Given the description of an element on the screen output the (x, y) to click on. 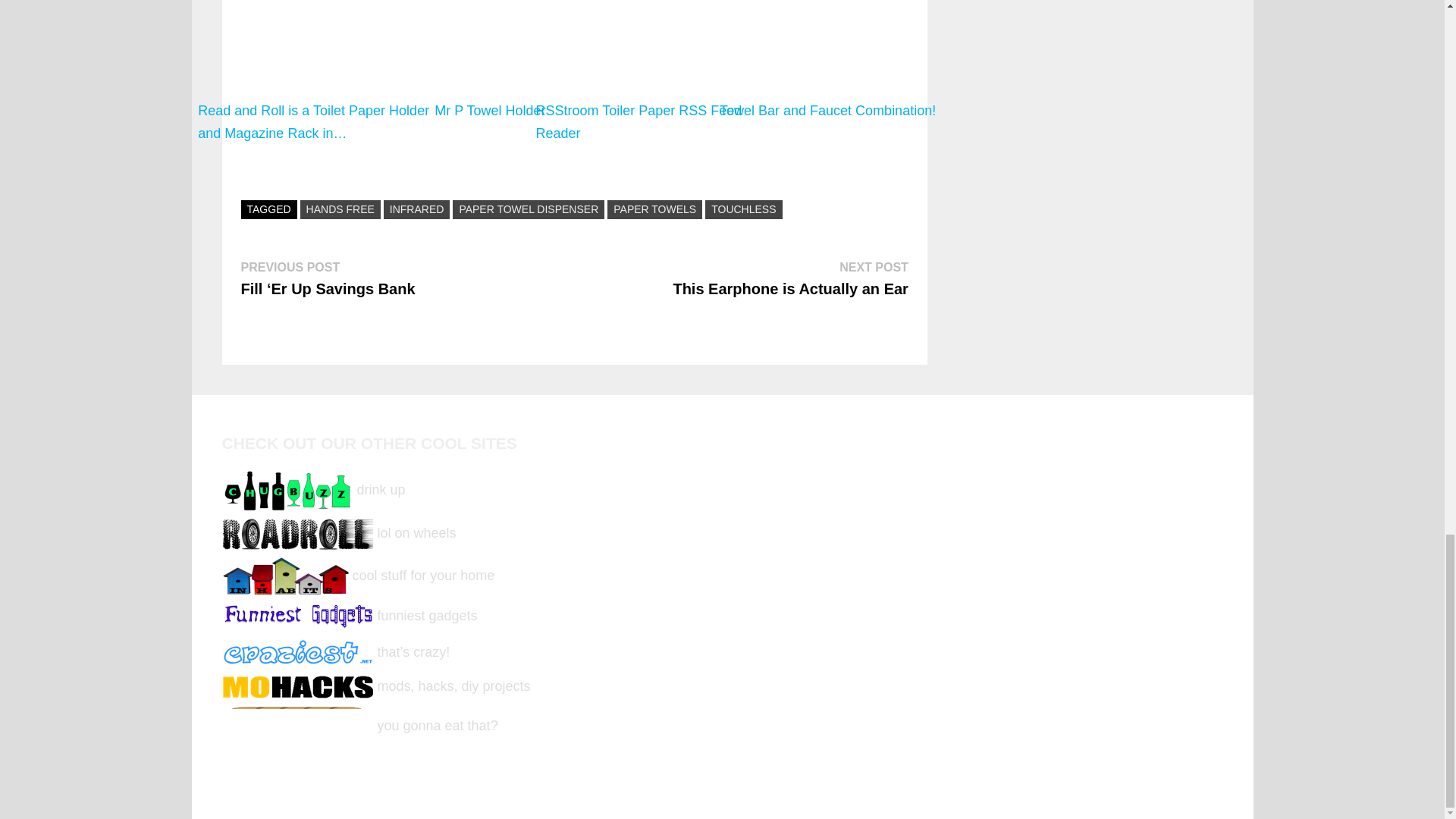
Towel Bar and Faucet Combination! (827, 74)
HANDS FREE (339, 209)
PAPER TOWEL DISPENSER (528, 209)
RSStroom Toiler Paper RSS Feed Reader (658, 74)
INFRARED (416, 209)
